Given the description of an element on the screen output the (x, y) to click on. 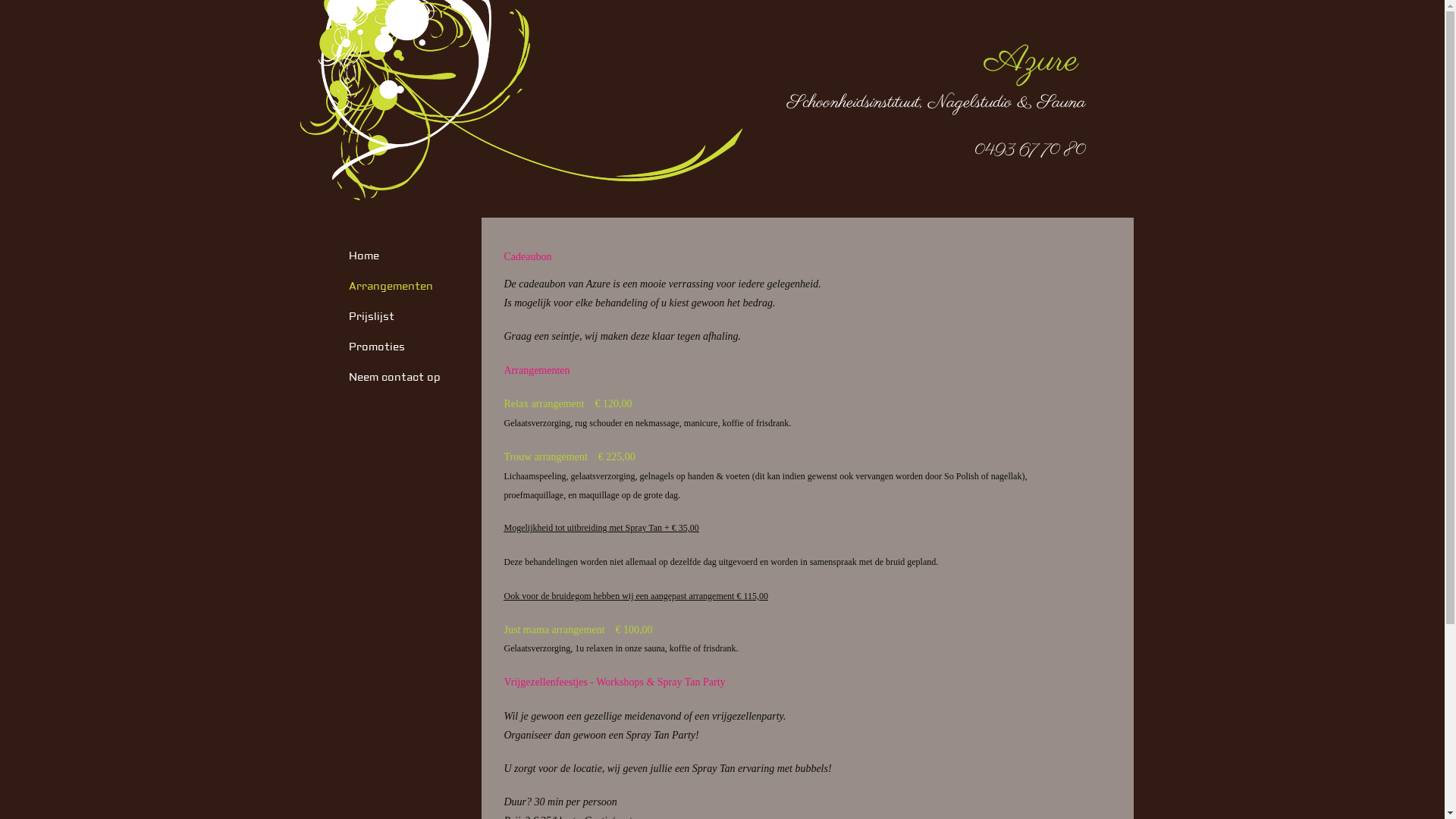
Prijslijst Element type: text (371, 317)
Home Element type: text (363, 256)
Arrangementen Element type: text (390, 287)
Neem contact op Element type: text (394, 378)
Promoties Element type: text (376, 347)
